Given the description of an element on the screen output the (x, y) to click on. 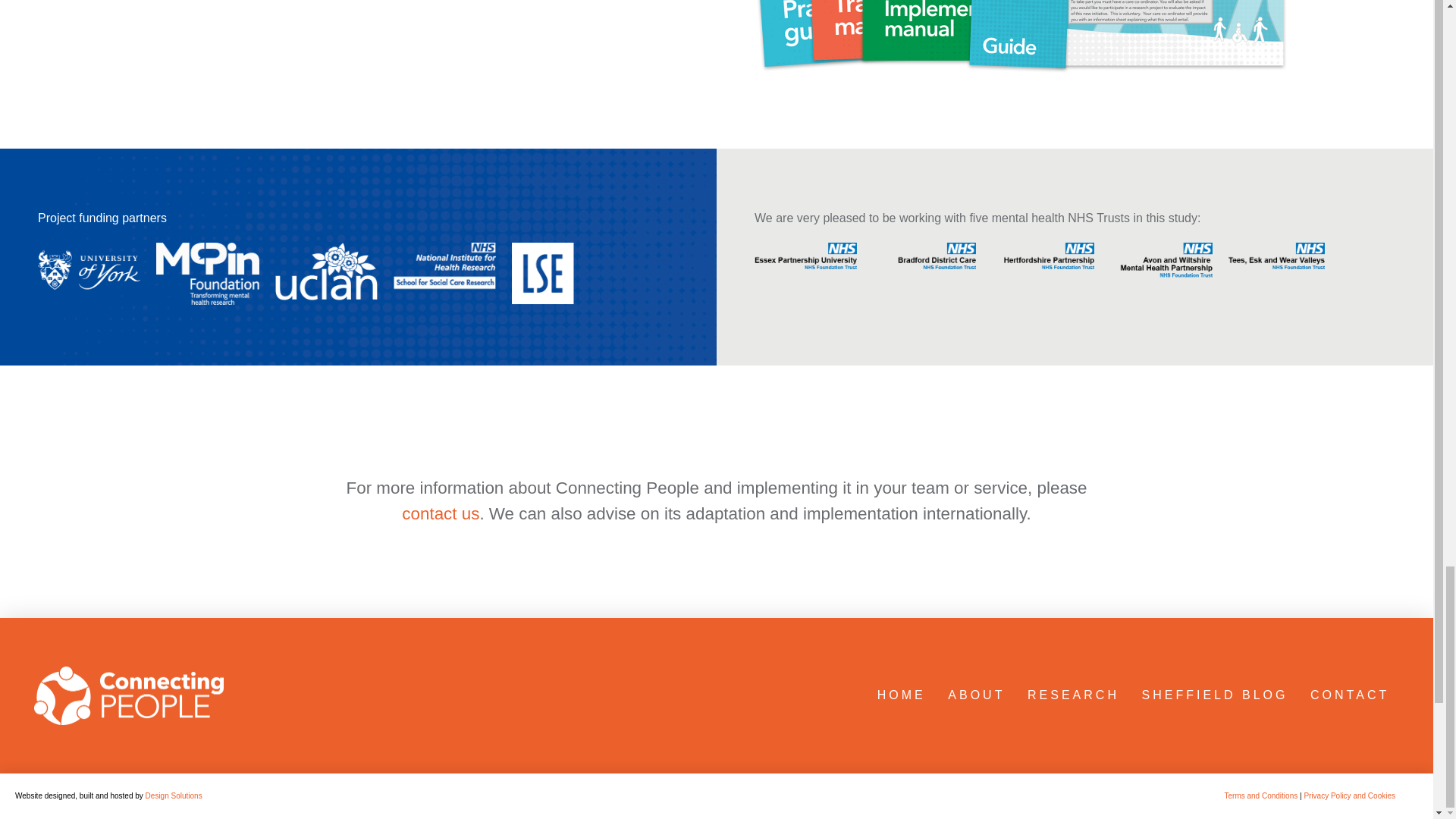
Terms and Conditions (1262, 795)
SHEFFIELD BLOG (1213, 695)
contact us (440, 513)
Privacy Policy and Cookies (1347, 795)
Design Solutions (173, 795)
CONTACT (1348, 695)
ABOUT (975, 695)
HOME (900, 695)
RESEARCH (1071, 695)
